Given the description of an element on the screen output the (x, y) to click on. 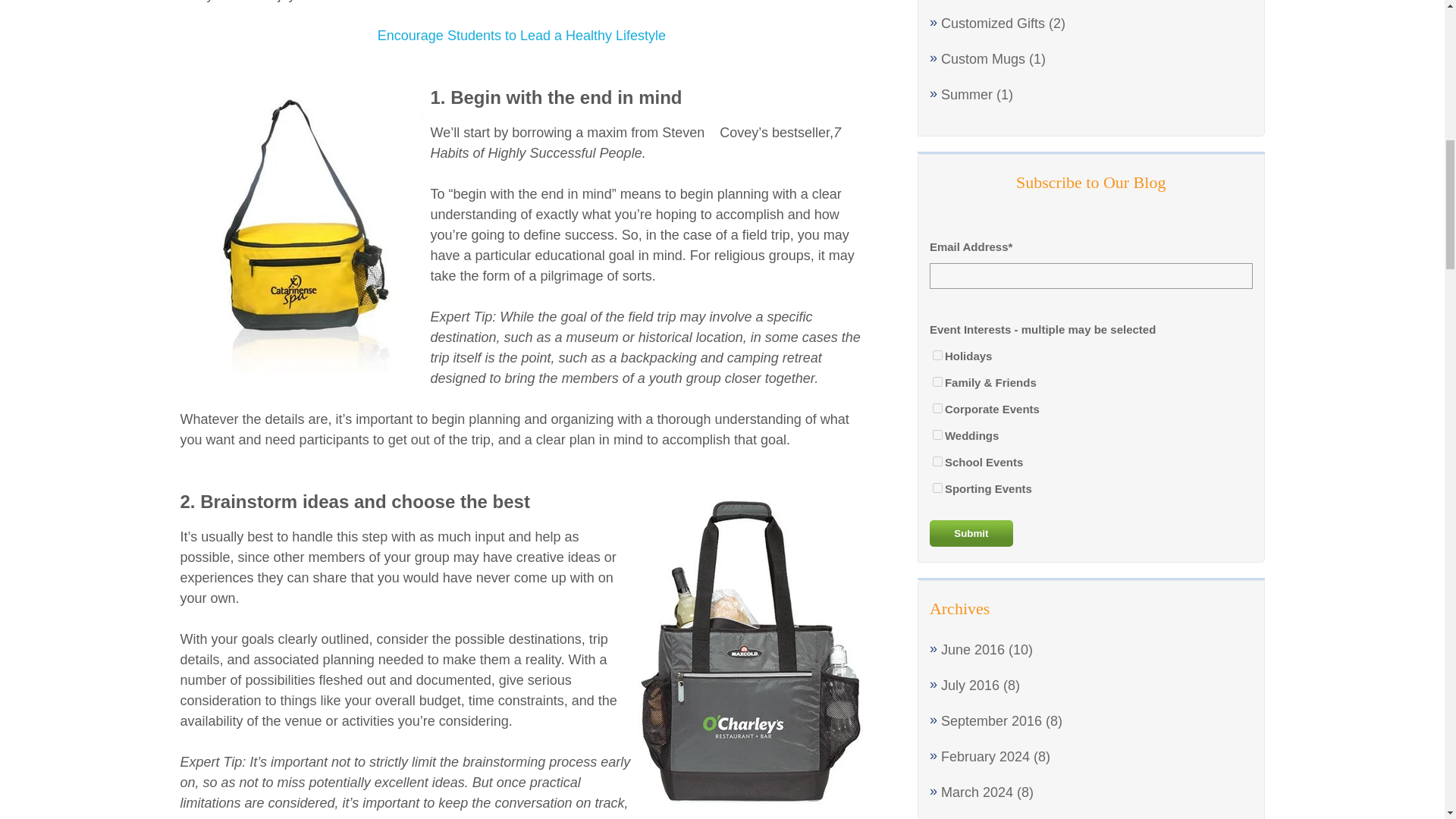
School Events (937, 461)
Sporting Events (937, 488)
Weddings (937, 434)
Holidays (937, 355)
Corporate Events (937, 408)
Submit (971, 533)
